Given the description of an element on the screen output the (x, y) to click on. 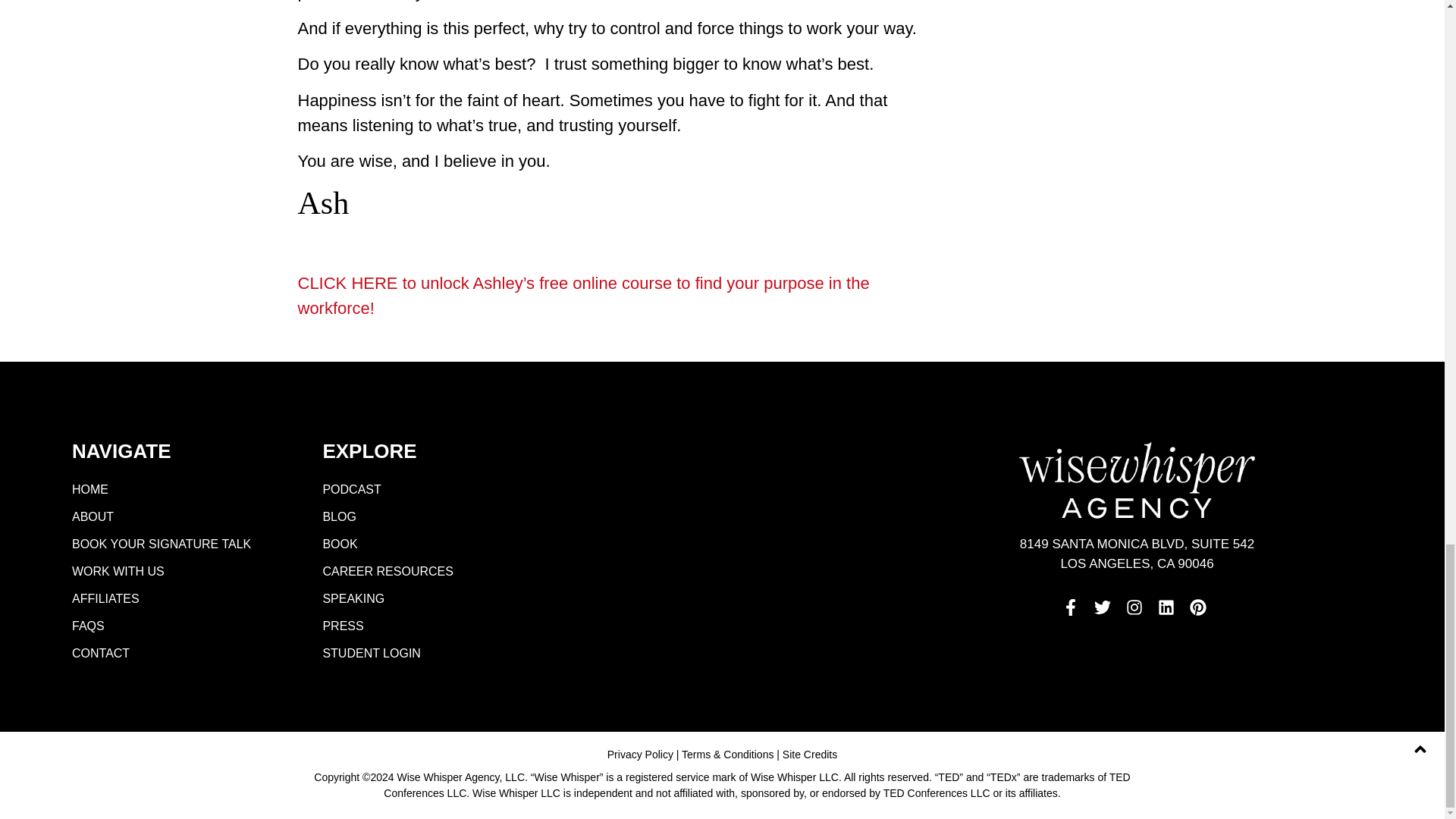
FAQS (176, 625)
ABOUT (176, 516)
BOOK YOUR SIGNATURE TALK (176, 543)
WORK WITH US (176, 571)
HOME (176, 489)
AFFILIATES (176, 598)
